Given the description of an element on the screen output the (x, y) to click on. 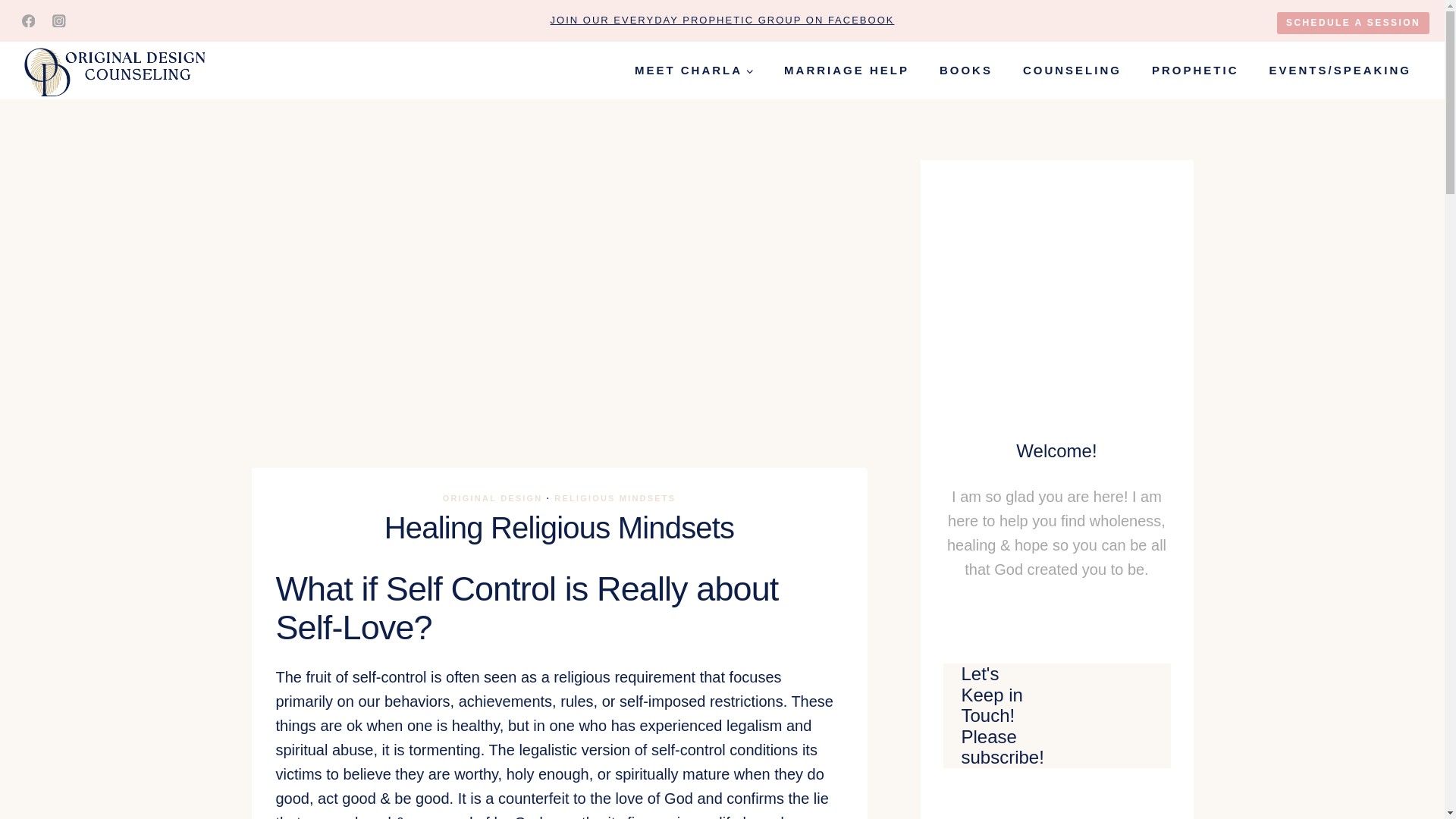
SCHEDULE A SESSION (1352, 23)
RELIGIOUS MINDSETS (614, 497)
MEET CHARLA (694, 70)
MARRIAGE HELP (846, 70)
PROPHETIC (1195, 70)
BOOKS (965, 70)
COUNSELING (1072, 70)
JOIN OUR EVERYDAY PROPHETIC GROUP ON FACEBOOK (722, 19)
ORIGINAL DESIGN (492, 497)
